Given the description of an element on the screen output the (x, y) to click on. 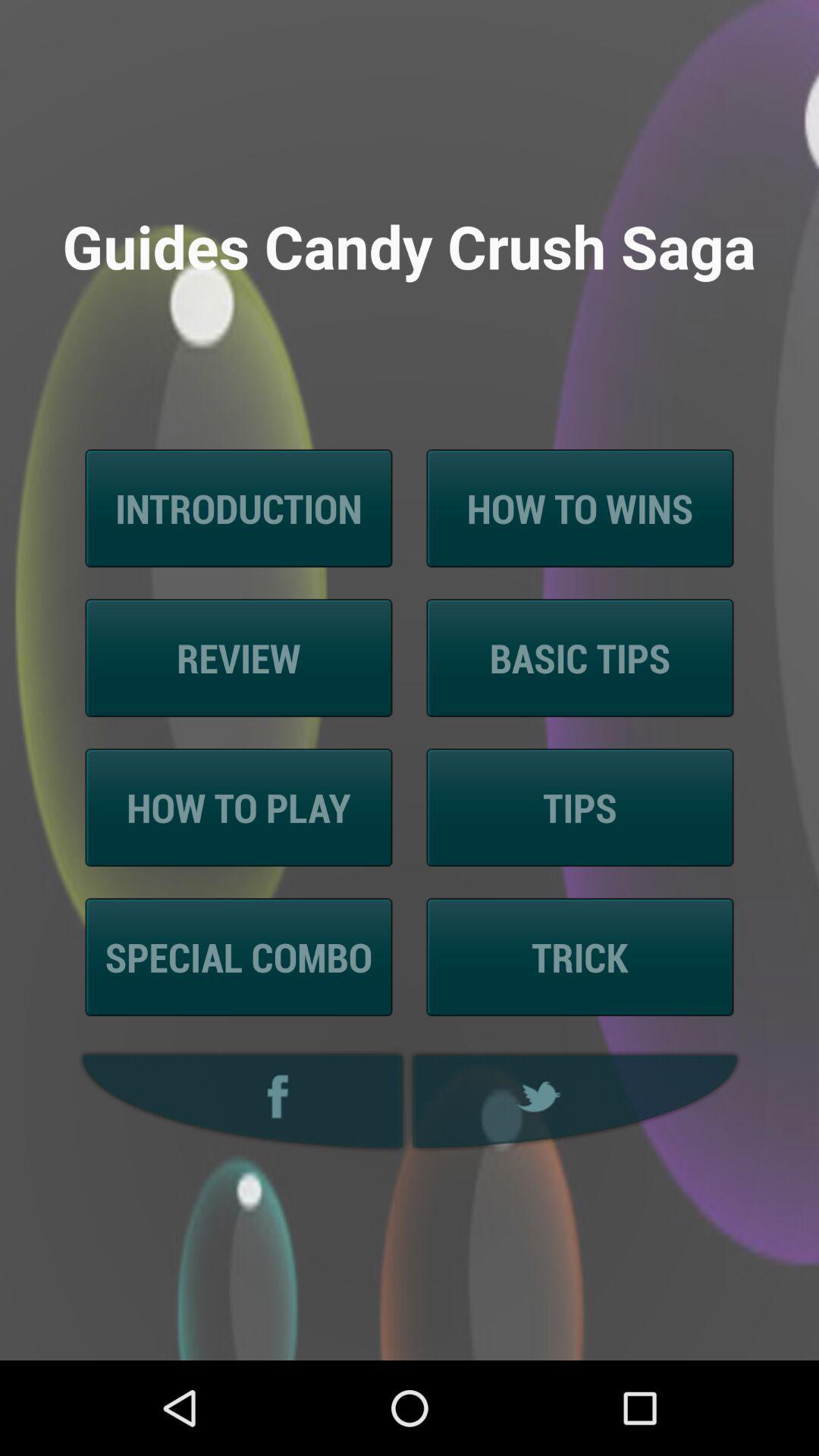
tap the icon next to the basic tips item (238, 657)
